Given the description of an element on the screen output the (x, y) to click on. 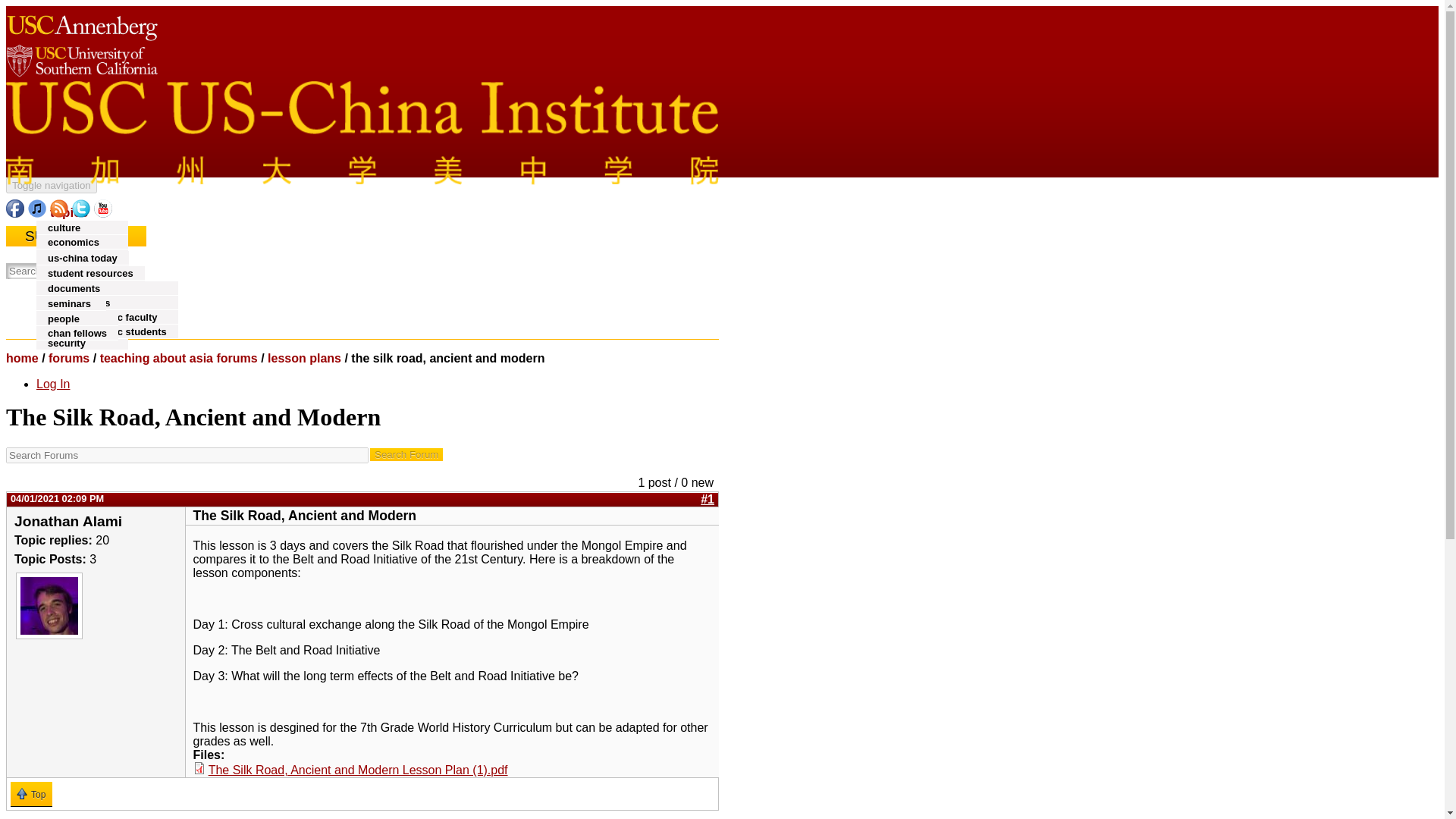
k-12 education (95, 288)
culture (63, 227)
economics (73, 242)
Home (362, 172)
visiting scholars (86, 302)
videos (63, 286)
perceptions (75, 299)
environment (76, 256)
politics (65, 314)
catalog (72, 272)
University of Southern California (81, 73)
us-china today (82, 257)
